Given the description of an element on the screen output the (x, y) to click on. 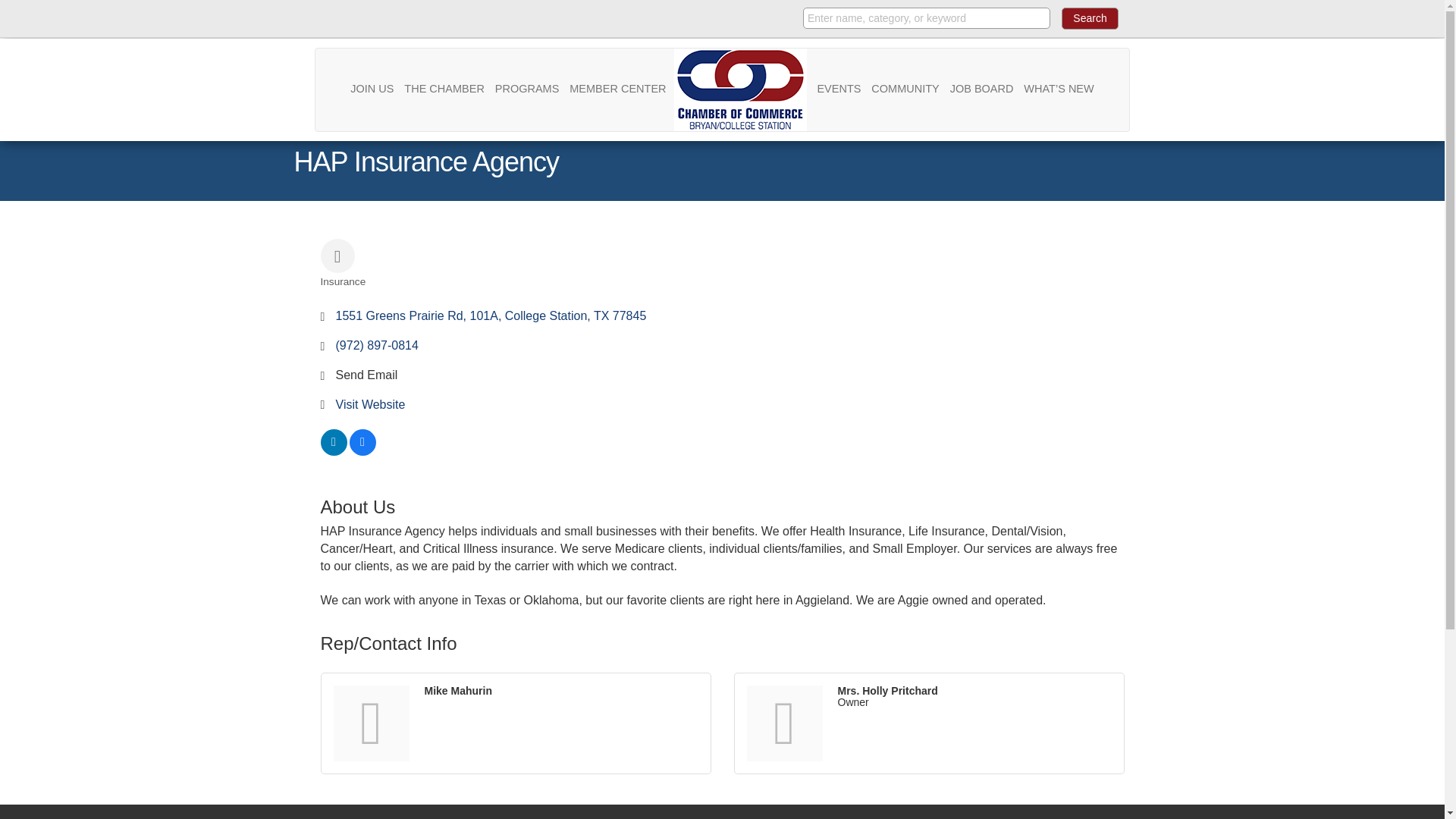
Search (1089, 18)
EVENTS (838, 88)
MEMBER CENTER (617, 88)
View on Facebook (362, 451)
View on LinkedIn (333, 451)
JOIN US (371, 88)
Search (1089, 18)
THE CHAMBER (443, 88)
Search (1089, 18)
PROGRAMS (527, 88)
